Given the description of an element on the screen output the (x, y) to click on. 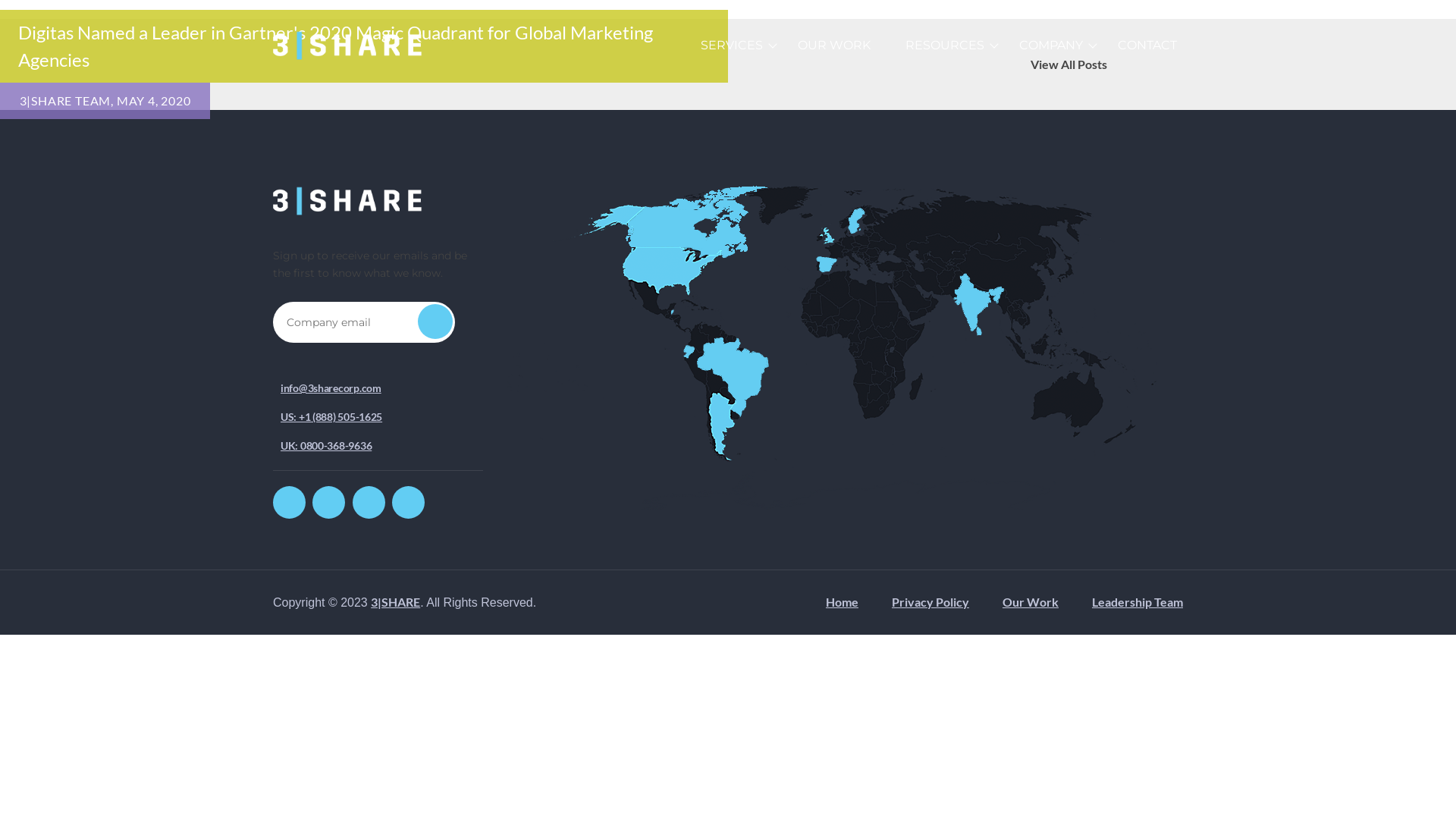
Home Element type: text (841, 602)
Our Work Element type: text (1030, 602)
View All Posts Element type: text (1068, 64)
OUR WORK Element type: text (833, 45)
3SHARE_LOGO_WHITE_2018 Element type: hover (348, 45)
COMPANY Element type: text (1050, 45)
CONTACT Element type: text (1147, 45)
US: +1 (888) 505-1625 Element type: text (331, 416)
Privacy Policy Element type: text (930, 602)
Leadership Team Element type: text (1137, 602)
SERVICES Element type: text (731, 45)
RESOURCES Element type: text (944, 45)
info@3sharecorp.com Element type: text (330, 387)
Submit Element type: text (434, 321)
3SHARE_LOGO_WHITE_2018 Element type: hover (348, 200)
UK: 0800-368-9636 Element type: text (325, 445)
3|SHARE Element type: text (395, 601)
